Given the description of an element on the screen output the (x, y) to click on. 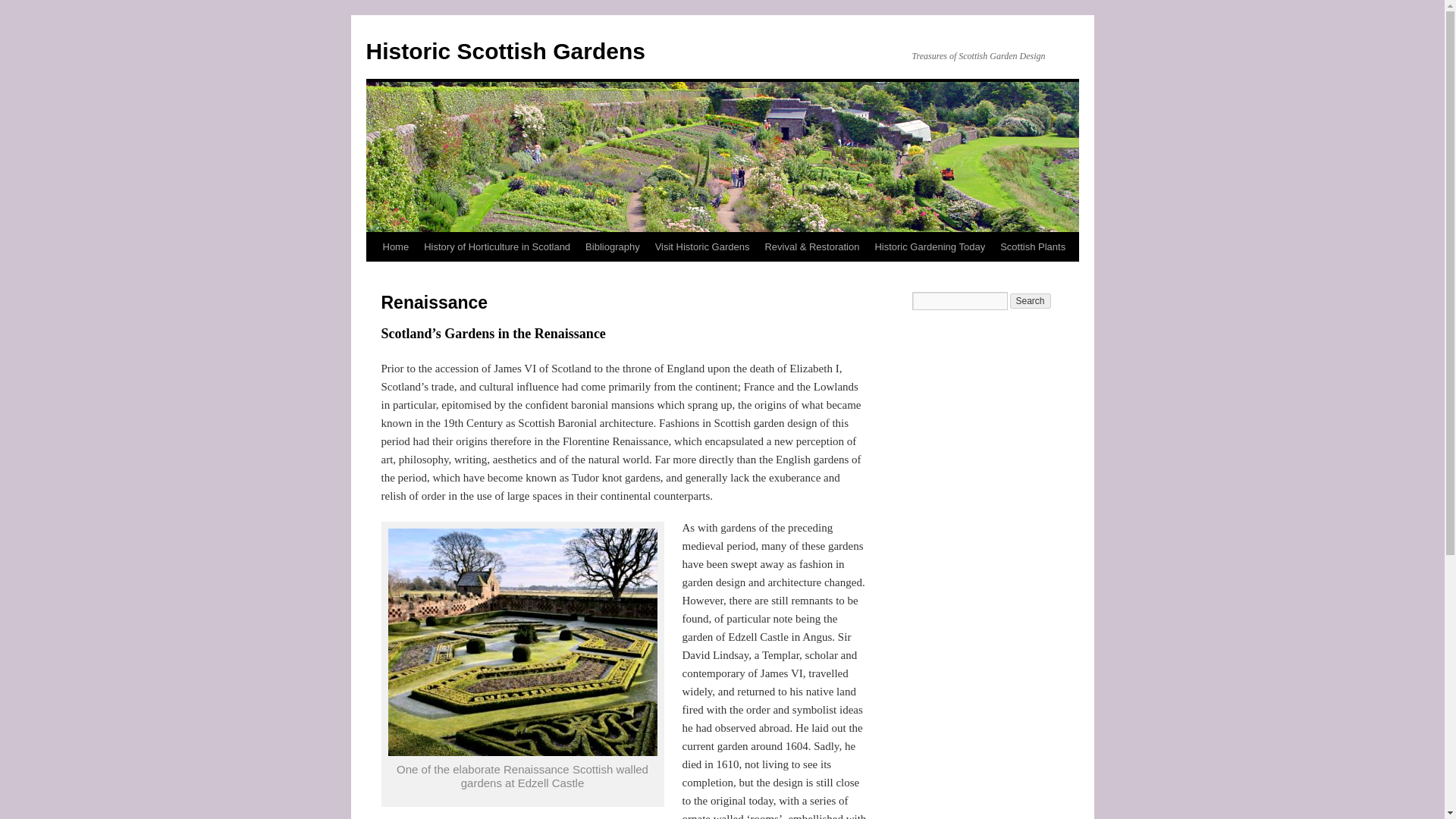
Home (395, 246)
Historic Gardening Today (929, 246)
Historic Scottish Gardens (505, 50)
Search (1030, 300)
Bibliography (612, 246)
Search (1030, 300)
Scottish Plants (1032, 246)
Visit Historic Gardens (702, 246)
History of Horticulture in Scotland (497, 246)
edzell (523, 641)
Historic Scottish Gardens (505, 50)
